Given the description of an element on the screen output the (x, y) to click on. 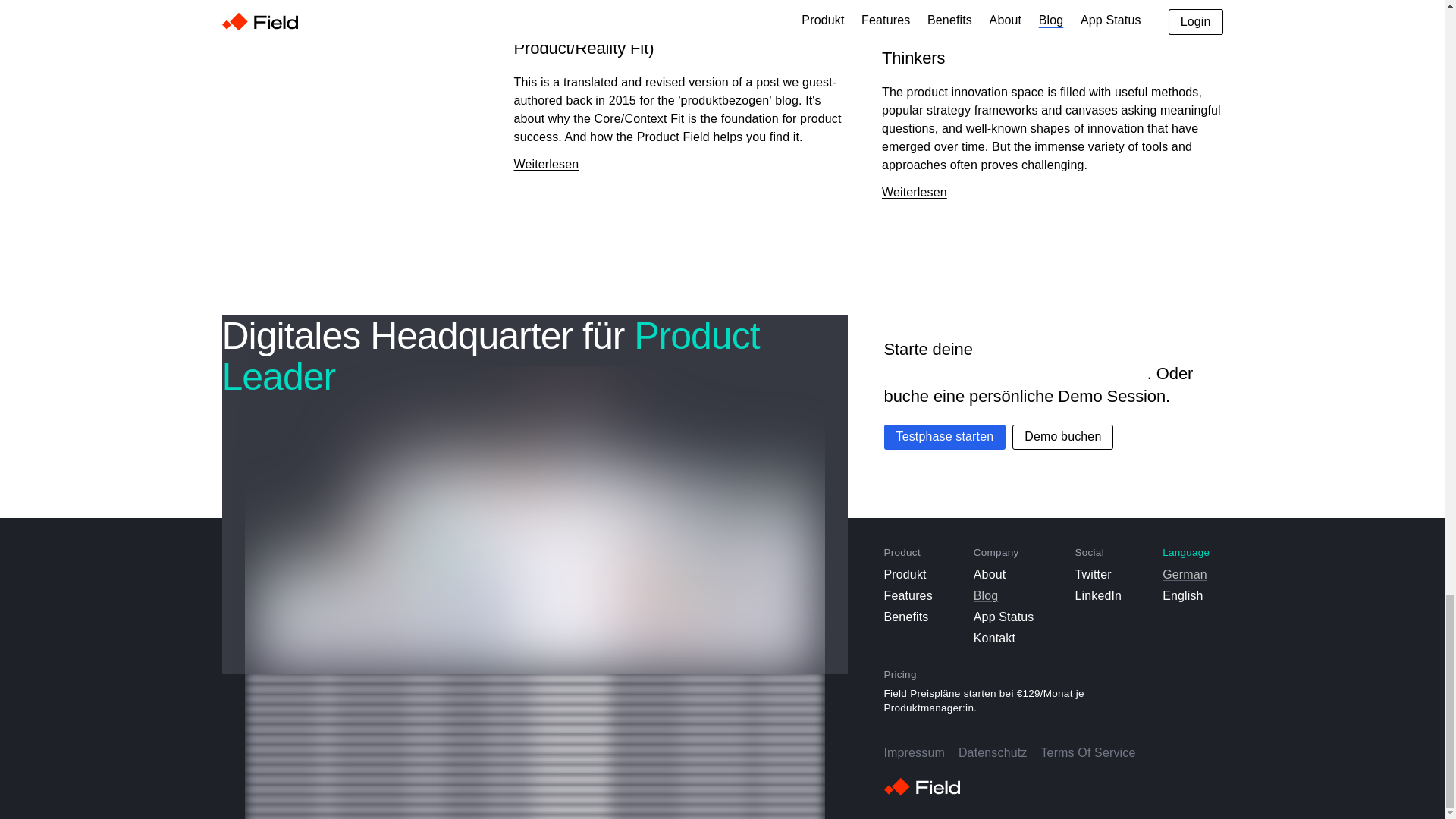
Demo buchen (1062, 436)
Produkt (908, 574)
Testphase starten (944, 436)
